Given the description of an element on the screen output the (x, y) to click on. 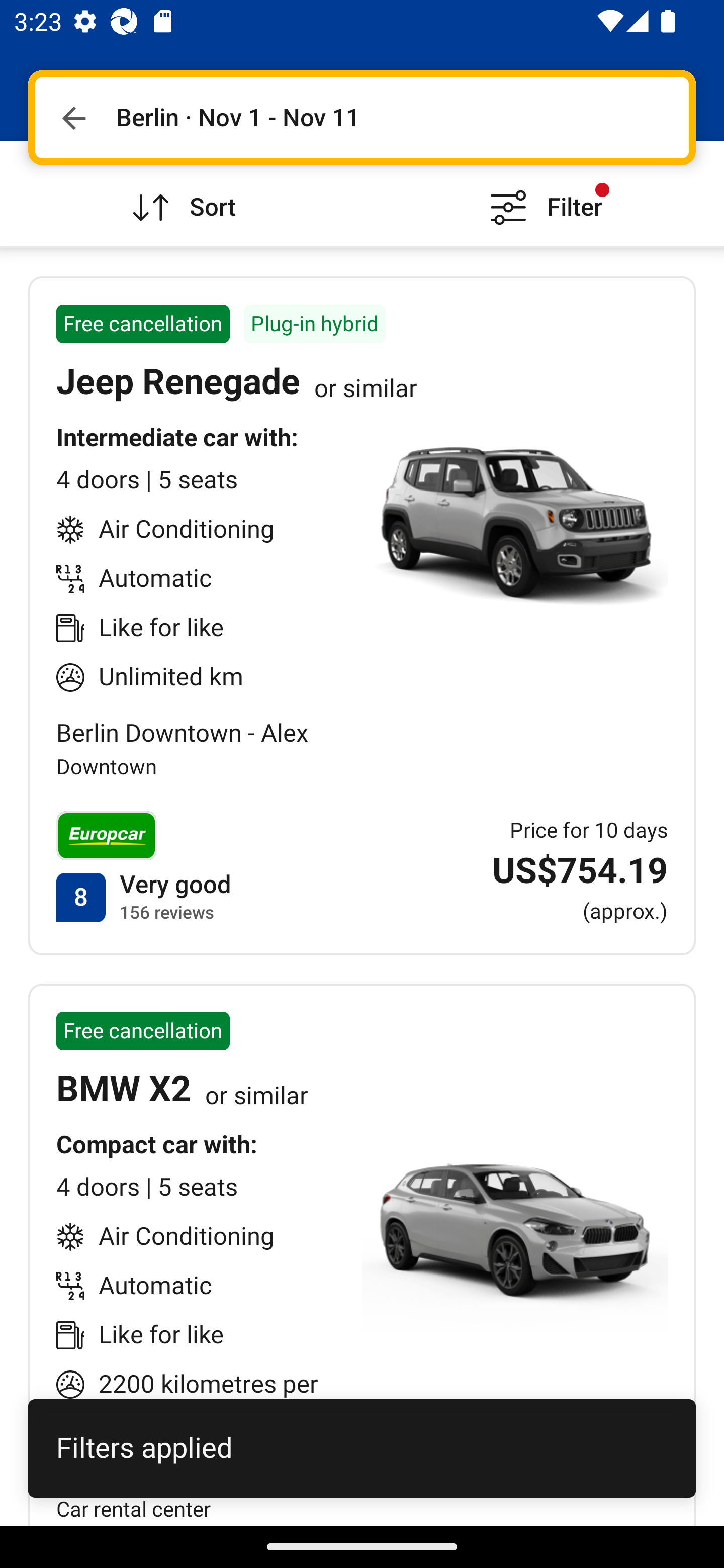
Back to previous screen (73, 117)
Sort (181, 193)
Filter (543, 193)
